Given the description of an element on the screen output the (x, y) to click on. 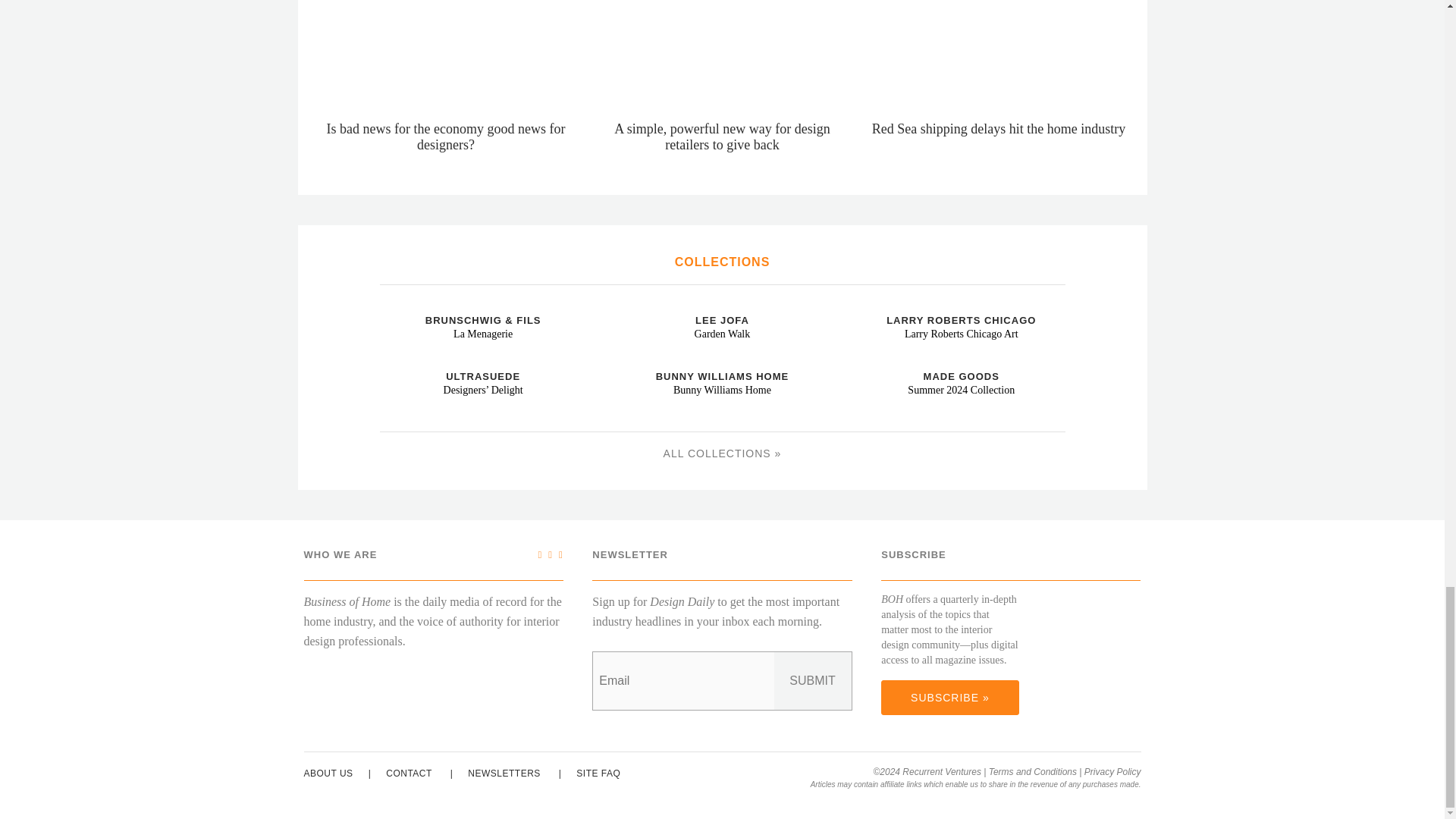
La Menagerie (384, 306)
Garden Walk (624, 306)
Larry Roberts Chicago Art (863, 306)
